Given the description of an element on the screen output the (x, y) to click on. 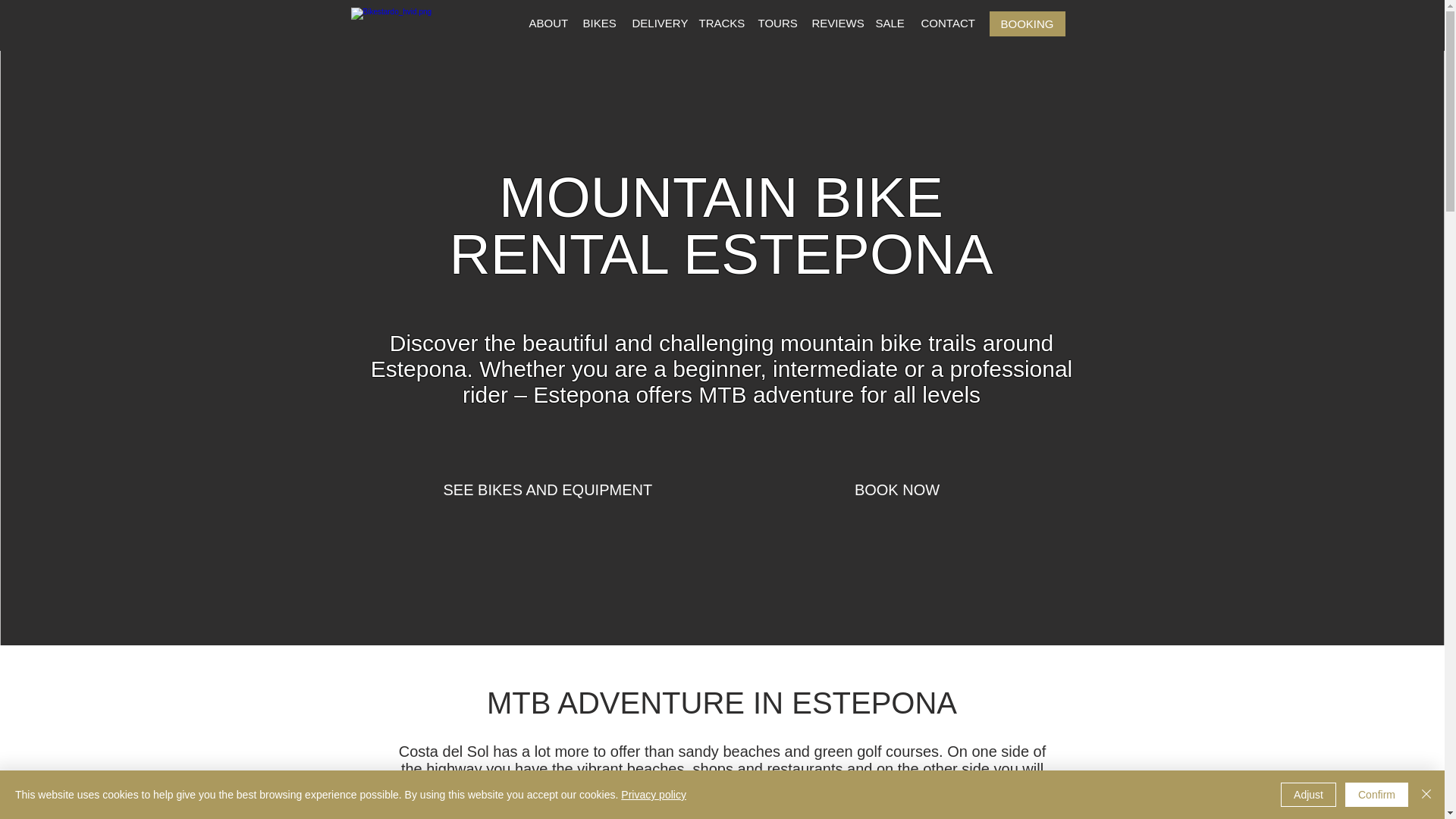
ABOUT (545, 23)
REVIEWS (834, 23)
Privacy policy (653, 794)
TOURS (775, 23)
SALE (888, 23)
Adjust (1308, 794)
BOOK NOW (897, 489)
TRACKS (718, 23)
Confirm (1376, 794)
DELIVERY (654, 23)
CONTACT (943, 23)
BIKES (598, 23)
SEE BIKES AND EQUIPMENT (547, 489)
BOOKING (1026, 23)
